Given the description of an element on the screen output the (x, y) to click on. 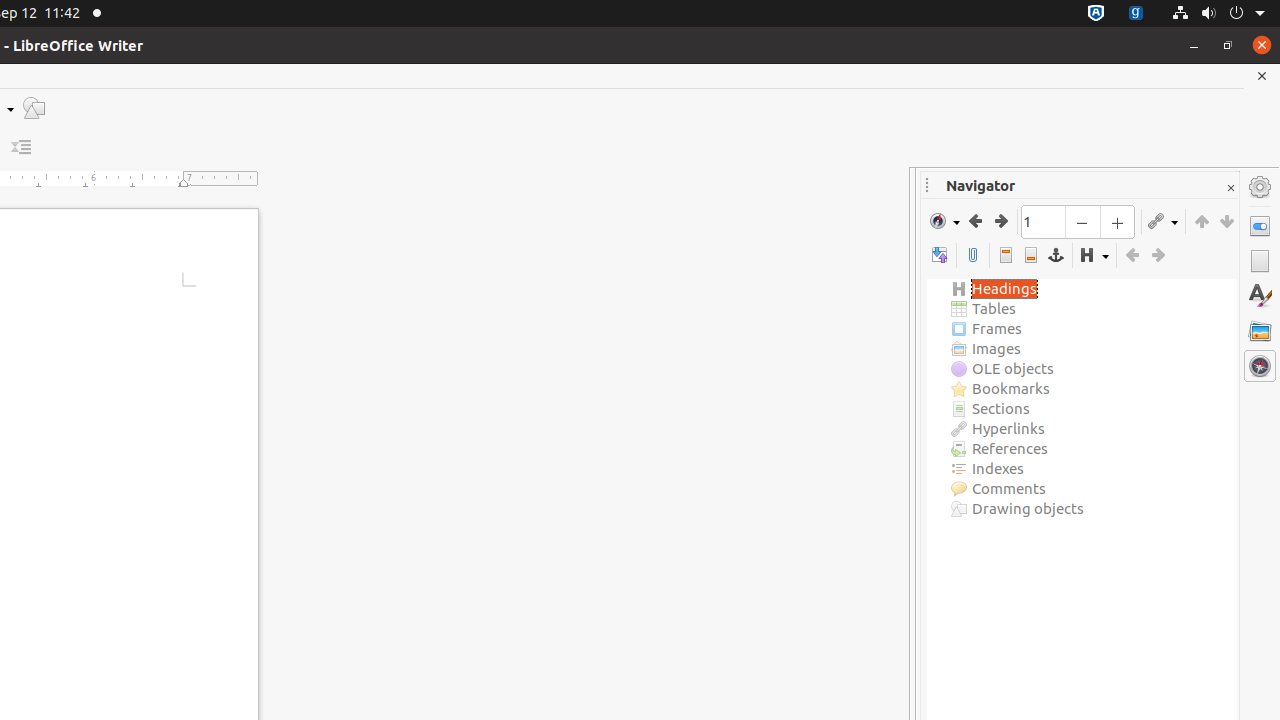
Set Reminder Element type: push-button (972, 255)
Footer Element type: push-button (1030, 255)
System Element type: menu (1218, 13)
Close Sidebar Deck Element type: push-button (1230, 188)
Draw Functions Element type: push-button (33, 108)
